Given the description of an element on the screen output the (x, y) to click on. 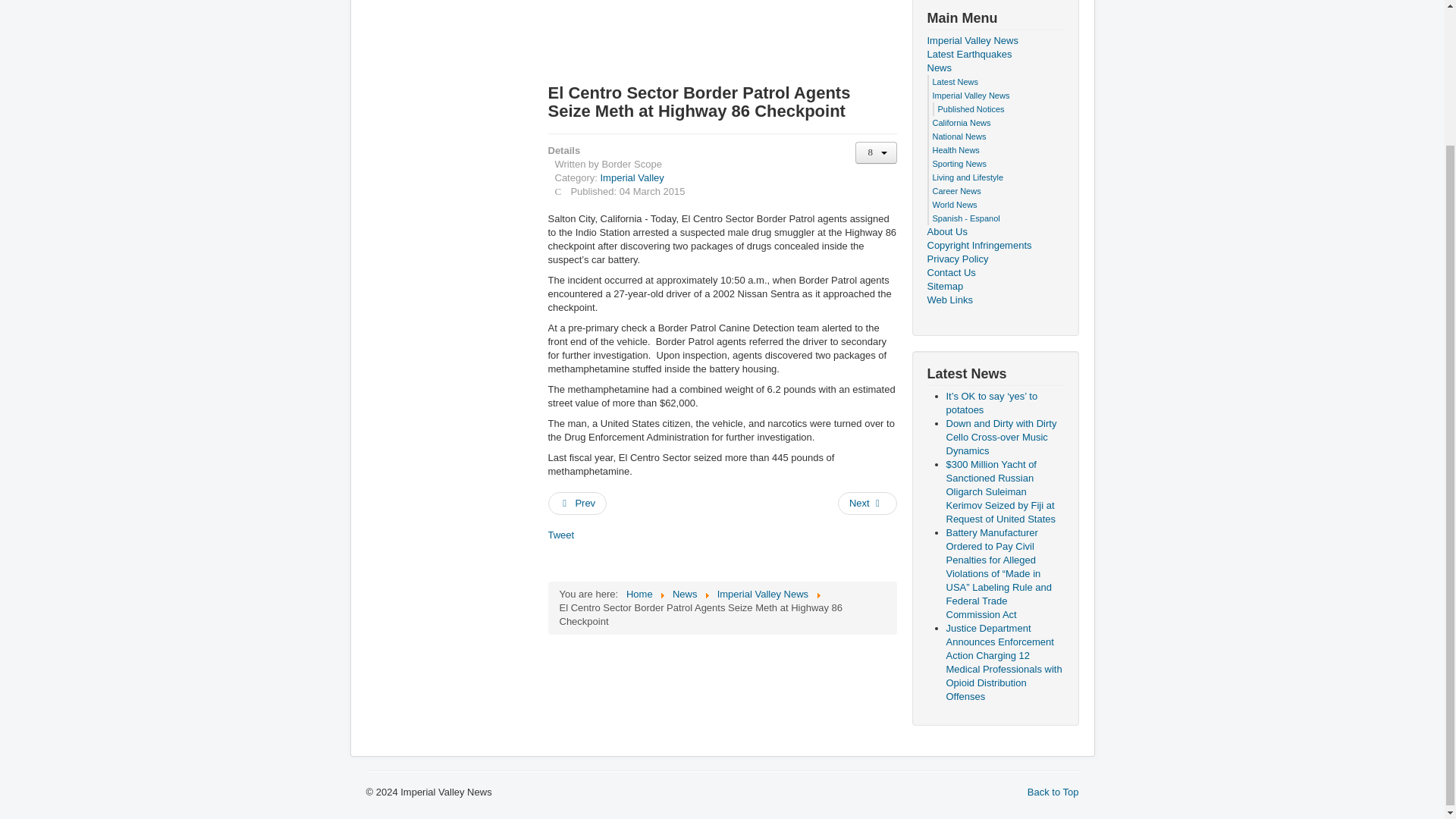
News (684, 593)
Web Links (994, 300)
Imperial Valley News (762, 593)
Advertisement (668, 35)
About Us (994, 232)
Sporting News (960, 163)
Back to Top (1052, 791)
News (994, 68)
National News (960, 135)
Advertisement (425, 225)
Copyright Infringements (994, 245)
Imperial Valley News (994, 40)
Prev (577, 503)
World News (954, 204)
